Given the description of an element on the screen output the (x, y) to click on. 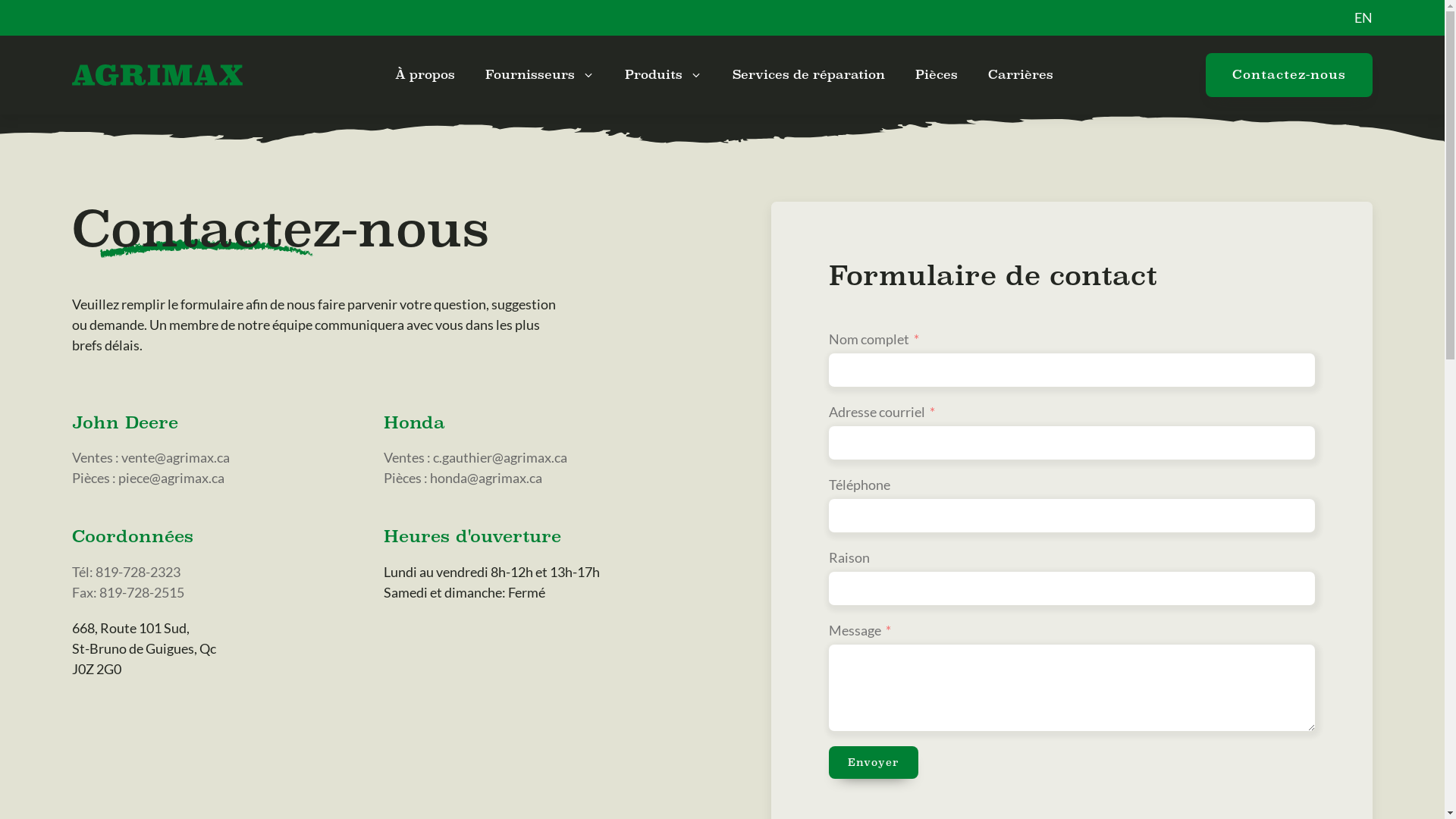
Contactez-nous Element type: text (1288, 75)
Produits Element type: text (663, 74)
Fax: 819-728-2515 Element type: text (128, 592)
Ventes : c.gauthier@agrimax.ca Element type: text (475, 457)
Ventes : vente@agrimax.ca Element type: text (150, 457)
EN Element type: text (1363, 17)
Envoyer Element type: text (873, 762)
